Given the description of an element on the screen output the (x, y) to click on. 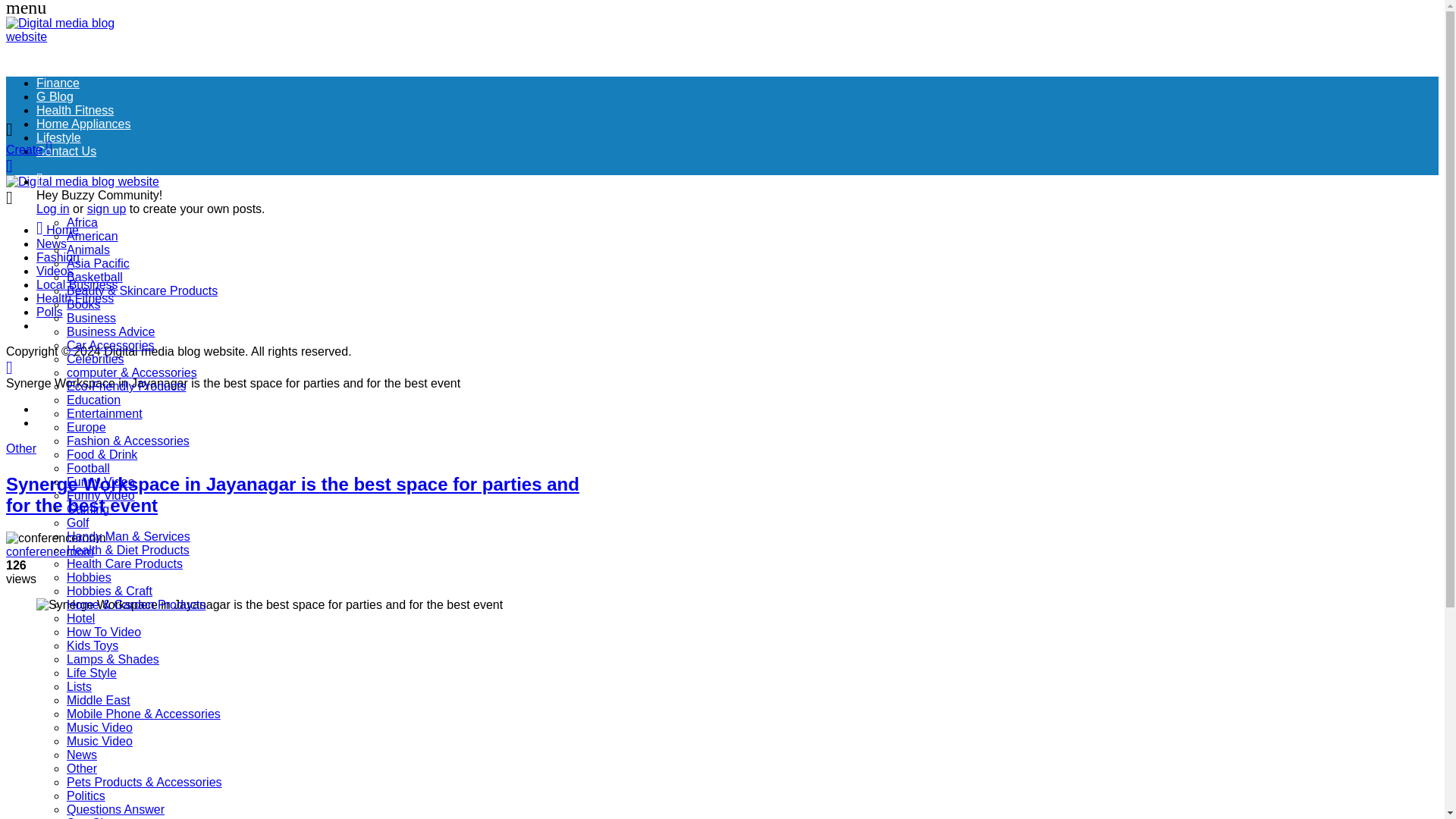
Funny Video (100, 481)
Football (88, 468)
Golf (77, 522)
Education (93, 399)
Basketball (94, 277)
Entertainment (104, 413)
Funny Video (100, 495)
Europe (86, 427)
Health Fitness (74, 110)
Africa (81, 222)
Car Accessories (110, 345)
Log in (52, 208)
Celebrities (94, 358)
Hotel (80, 617)
Finance (58, 82)
